Given the description of an element on the screen output the (x, y) to click on. 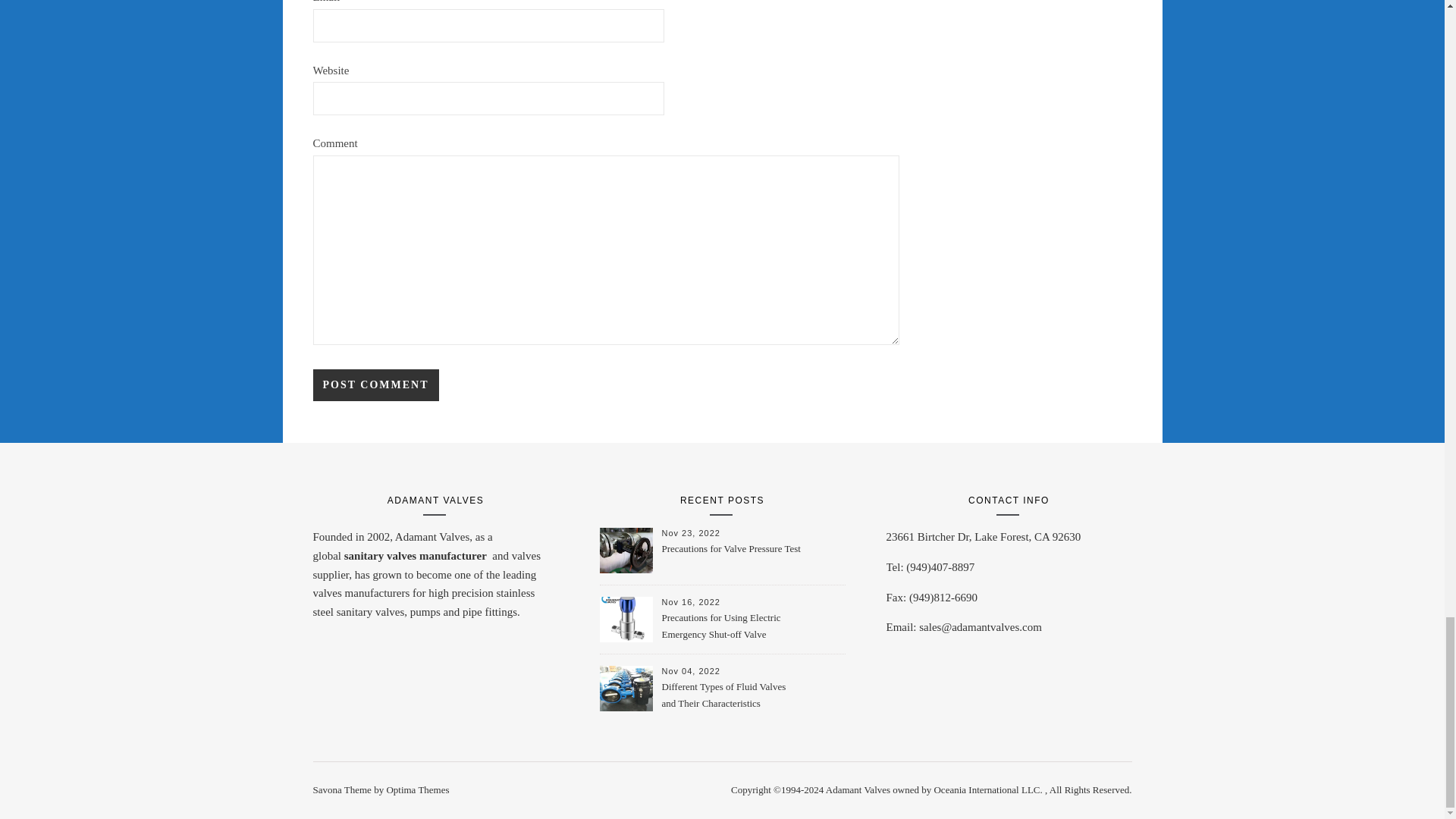
Post Comment (375, 385)
